Given the description of an element on the screen output the (x, y) to click on. 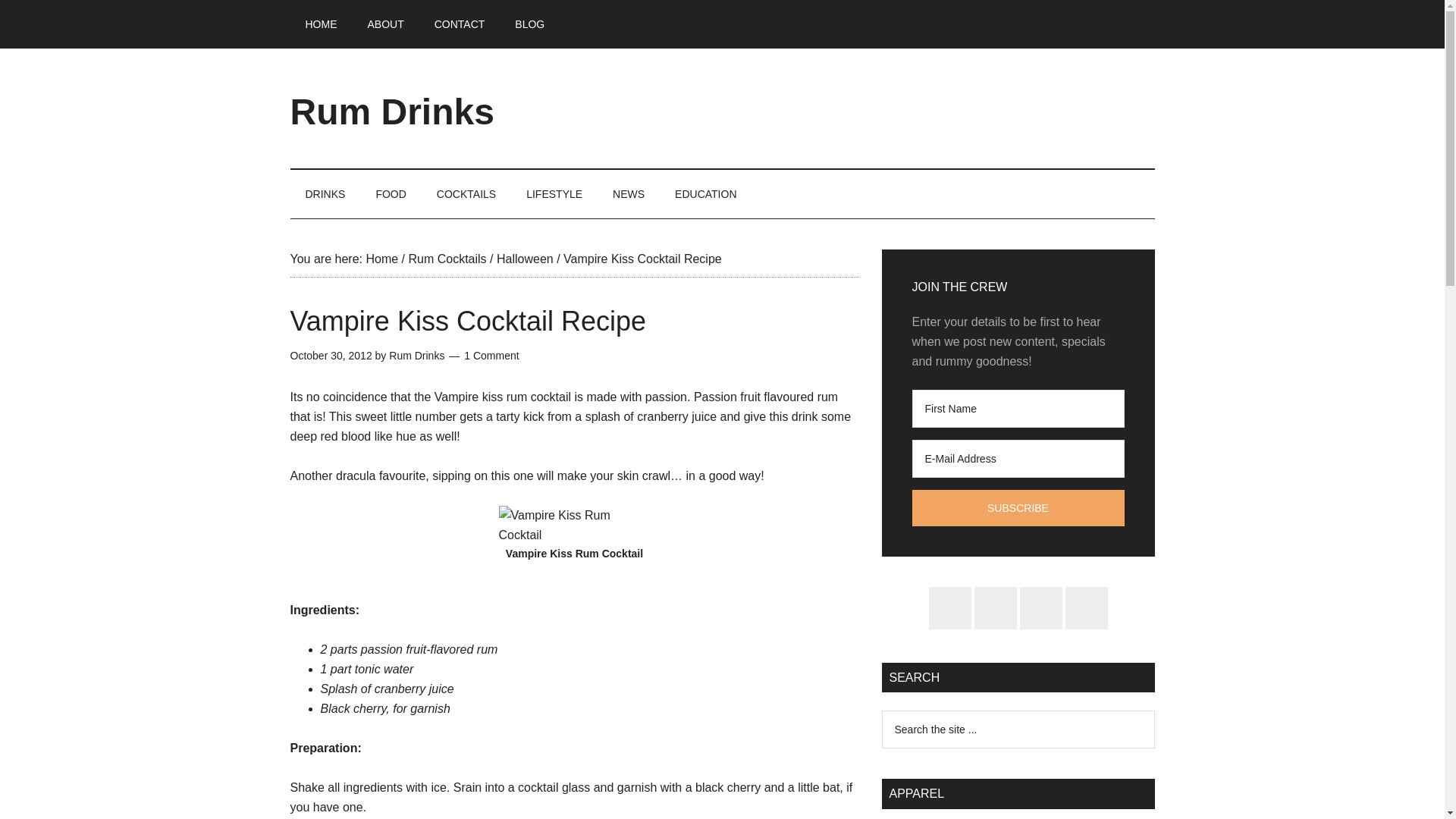
HOME (320, 24)
EDUCATION (705, 193)
SUBSCRIBE (1017, 507)
Drinks Made With Rum (324, 193)
Rum Drinks (416, 355)
COCKTAILS (466, 193)
NEWS (627, 193)
Advertisement (878, 105)
FOOD (389, 193)
CONTACT (459, 24)
Home (381, 258)
Halloween (524, 258)
LIFESTYLE (553, 193)
